Given the description of an element on the screen output the (x, y) to click on. 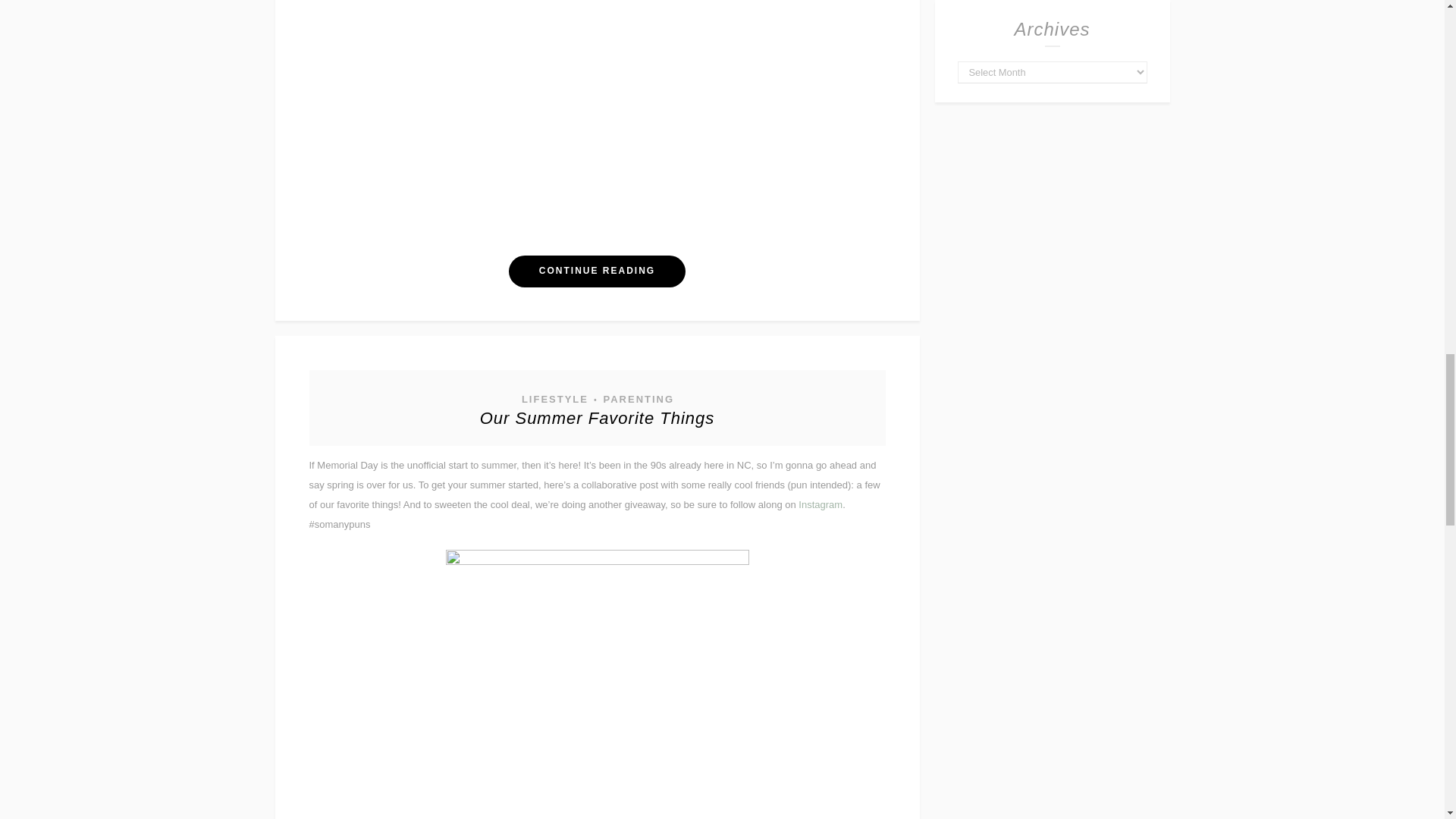
PARENTING (637, 399)
CONTINUE READING (596, 271)
Instagram (820, 504)
LIFESTYLE (554, 399)
Our Summer Favorite Things (597, 417)
Permanent (597, 417)
